Given the description of an element on the screen output the (x, y) to click on. 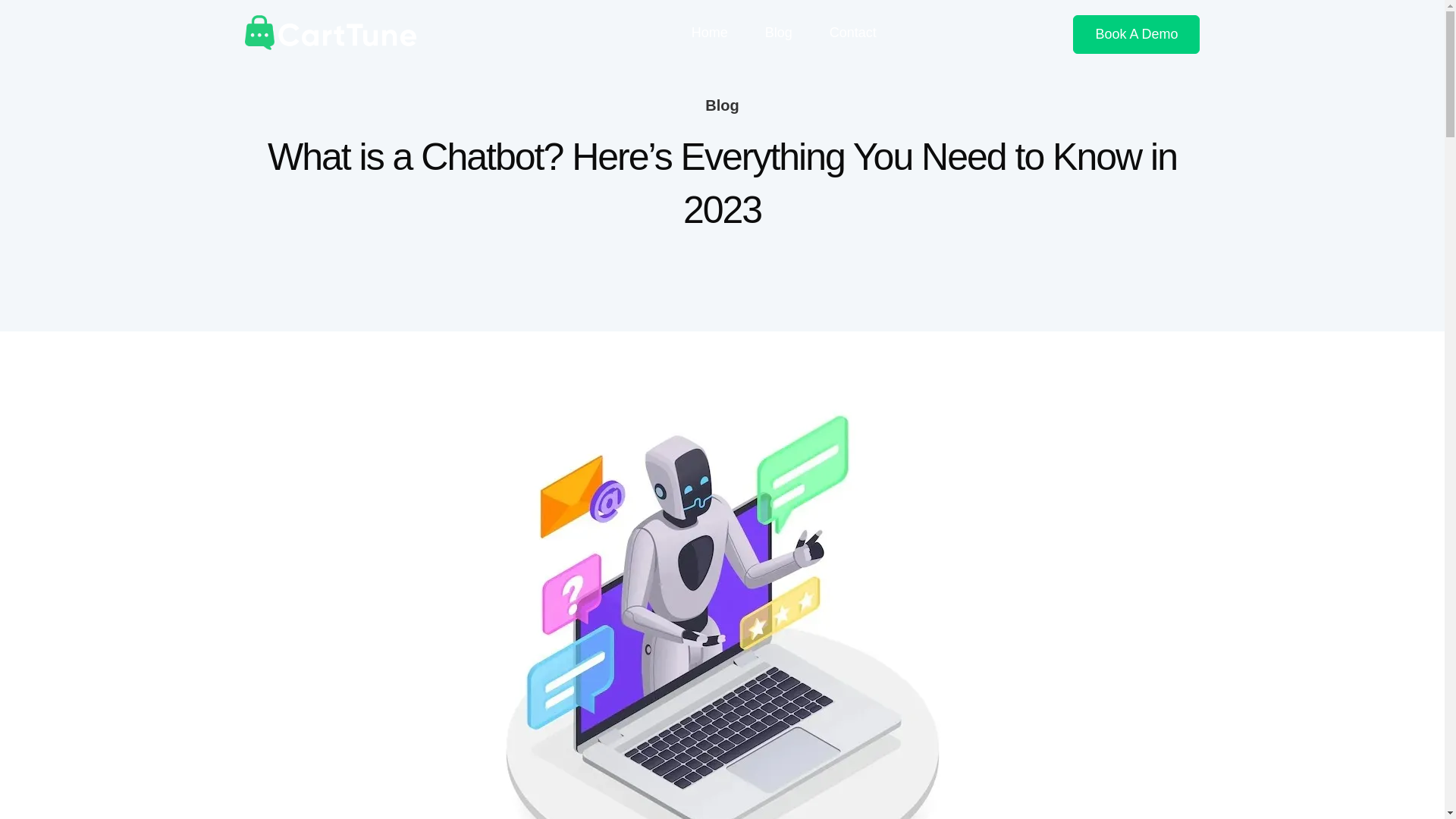
Contact (853, 32)
Blog (778, 32)
Home (709, 32)
Book A Demo (1136, 34)
